Given the description of an element on the screen output the (x, y) to click on. 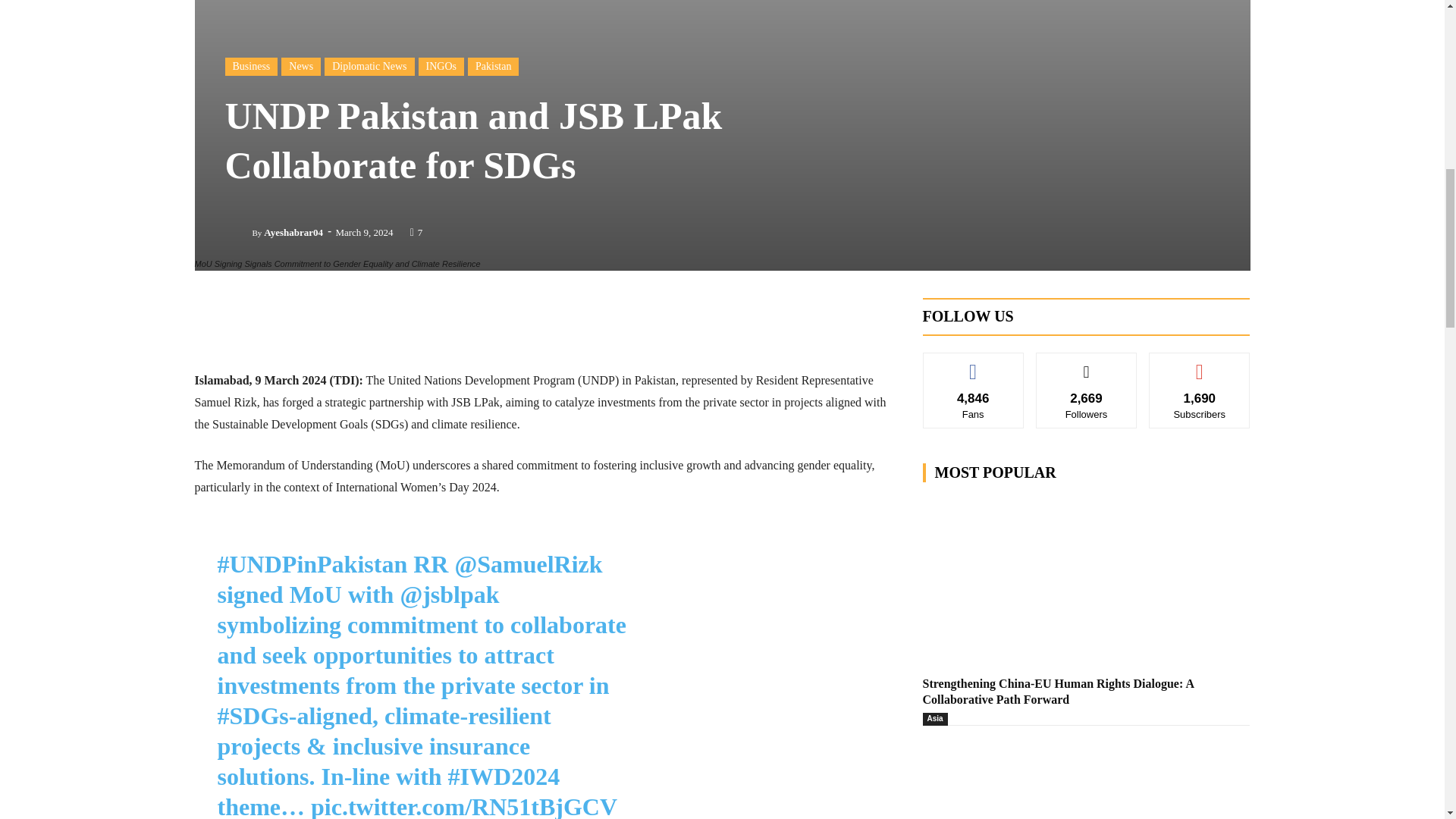
ayeshabrar04 (237, 232)
